Given the description of an element on the screen output the (x, y) to click on. 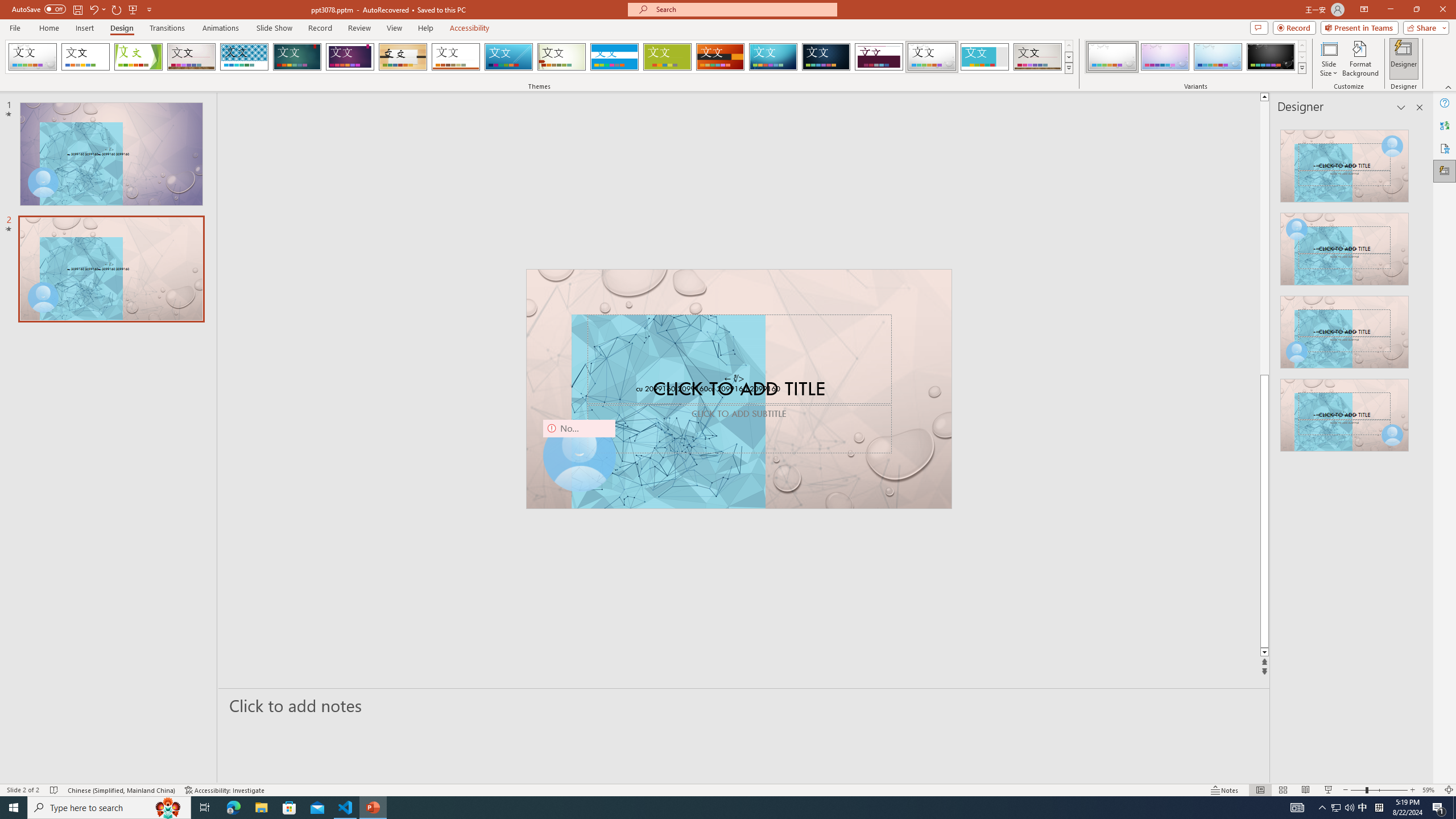
Themes (1068, 67)
AutomationID: ThemeVariantsGallery (1195, 56)
Droplet Variant 4 (1270, 56)
